Given the description of an element on the screen output the (x, y) to click on. 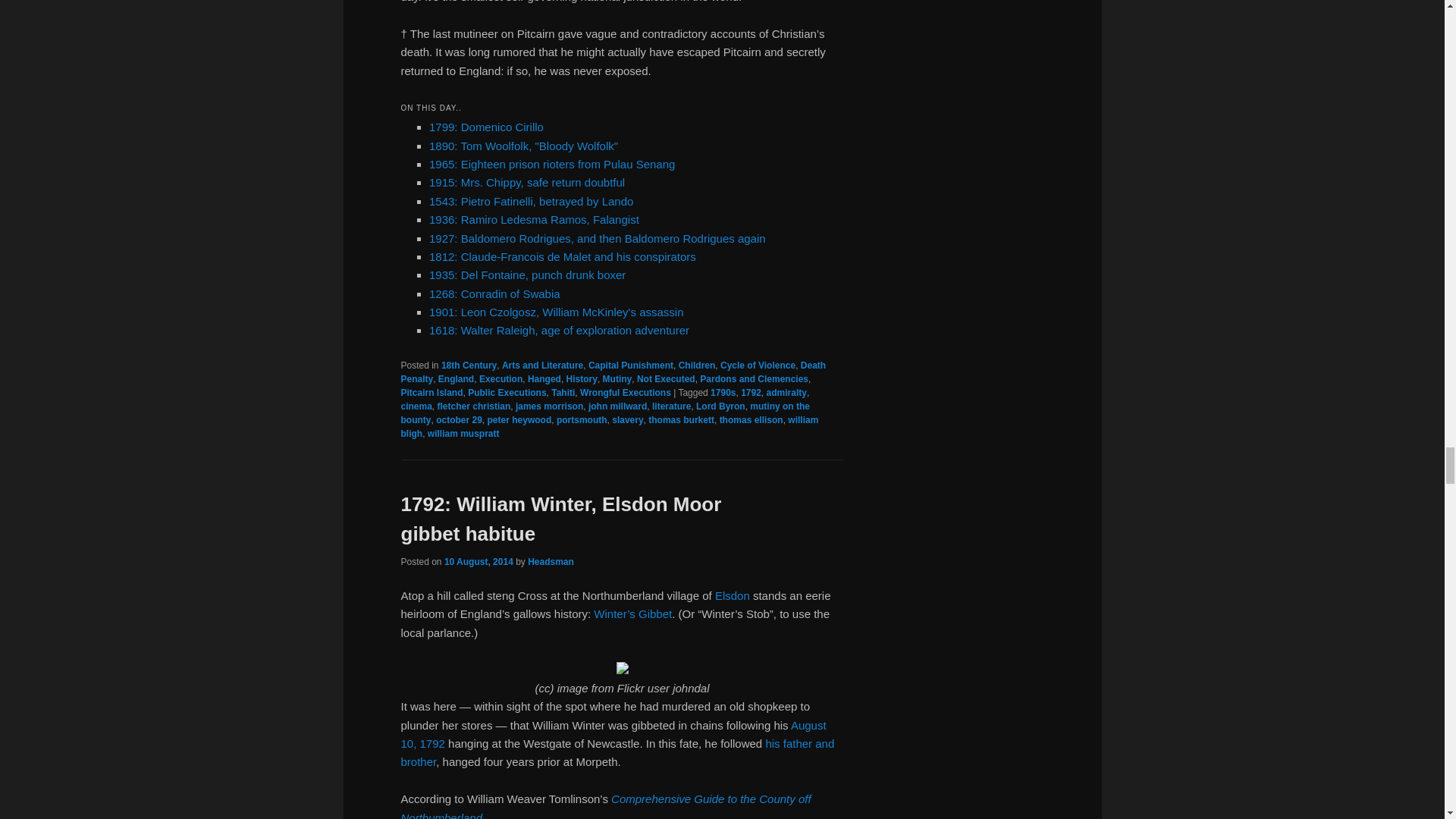
View all posts by Headsman (550, 561)
4:11 am (478, 561)
